Given the description of an element on the screen output the (x, y) to click on. 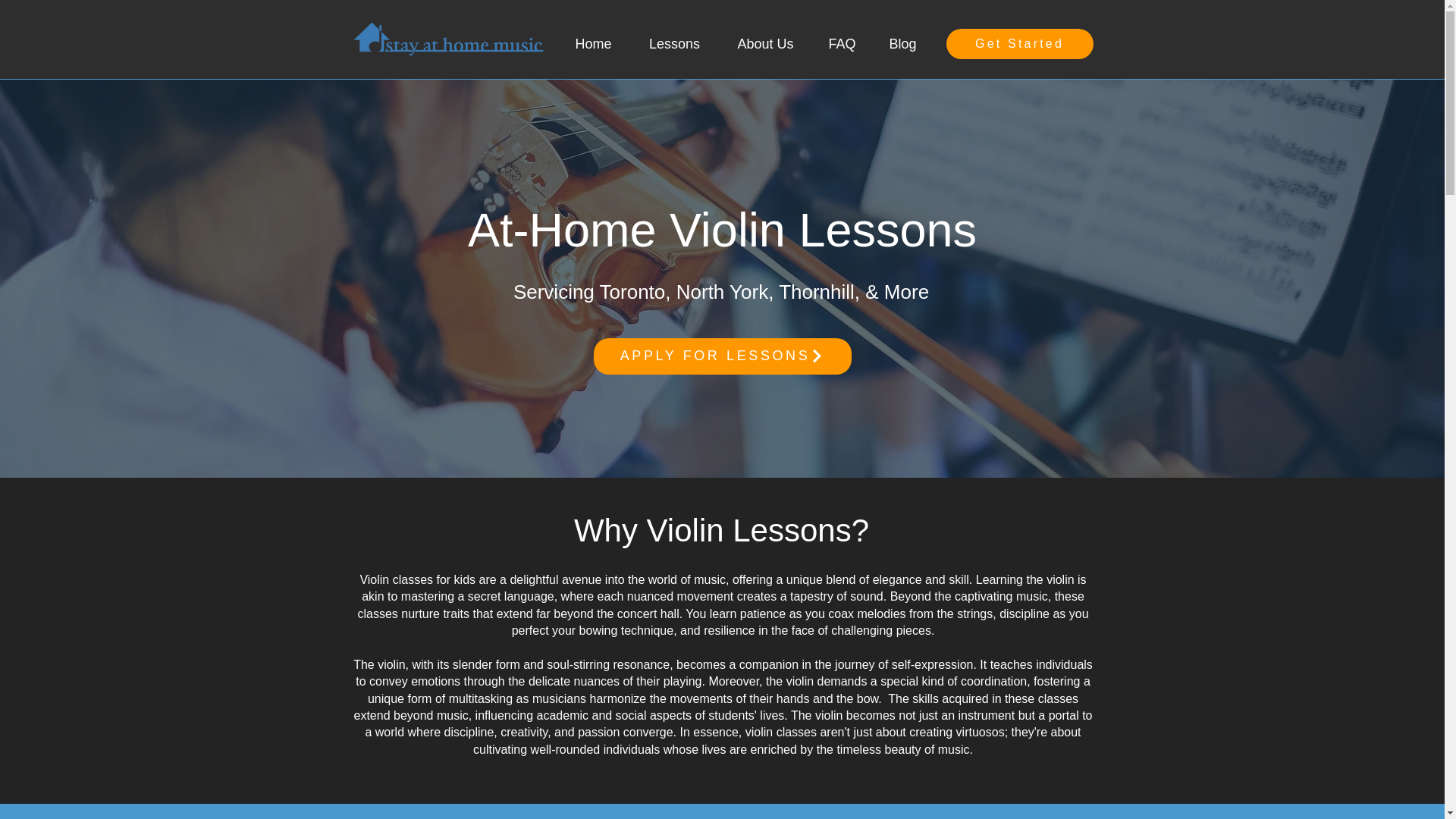
Blog (903, 43)
APPLY FOR LESSONS (721, 356)
FAQ (842, 43)
Get Started (1019, 43)
About Us (765, 43)
Home (593, 43)
